Given the description of an element on the screen output the (x, y) to click on. 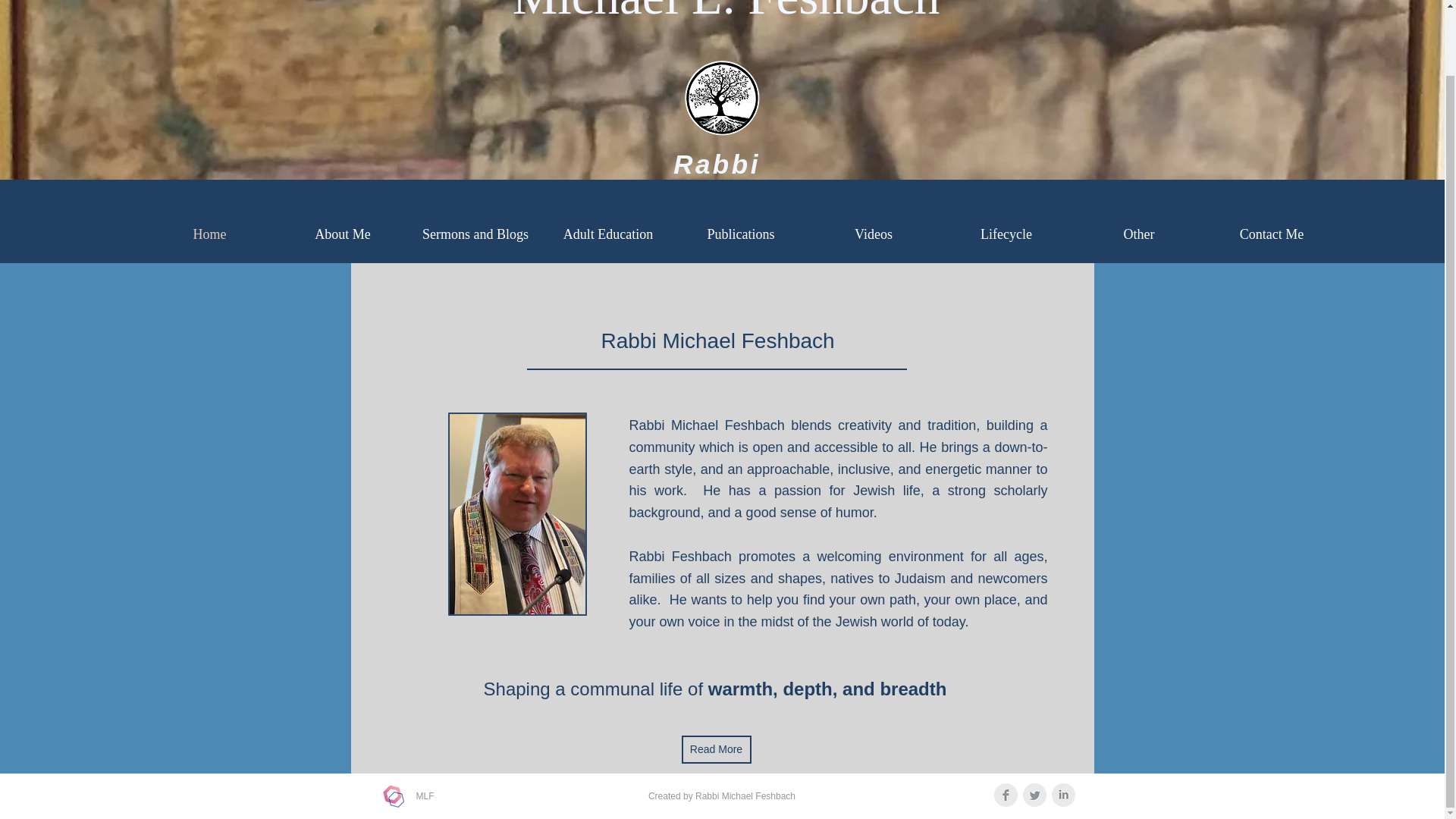
Rabbi (716, 164)
Read More (716, 749)
Videos (872, 234)
Adult Education (607, 234)
Publications (741, 234)
About Me (342, 234)
Lifecycle (1006, 234)
Other (1138, 234)
Home (209, 234)
Sermons and Blogs (475, 234)
Contact Me (1271, 234)
Michael L. Feshbach (726, 12)
